Given the description of an element on the screen output the (x, y) to click on. 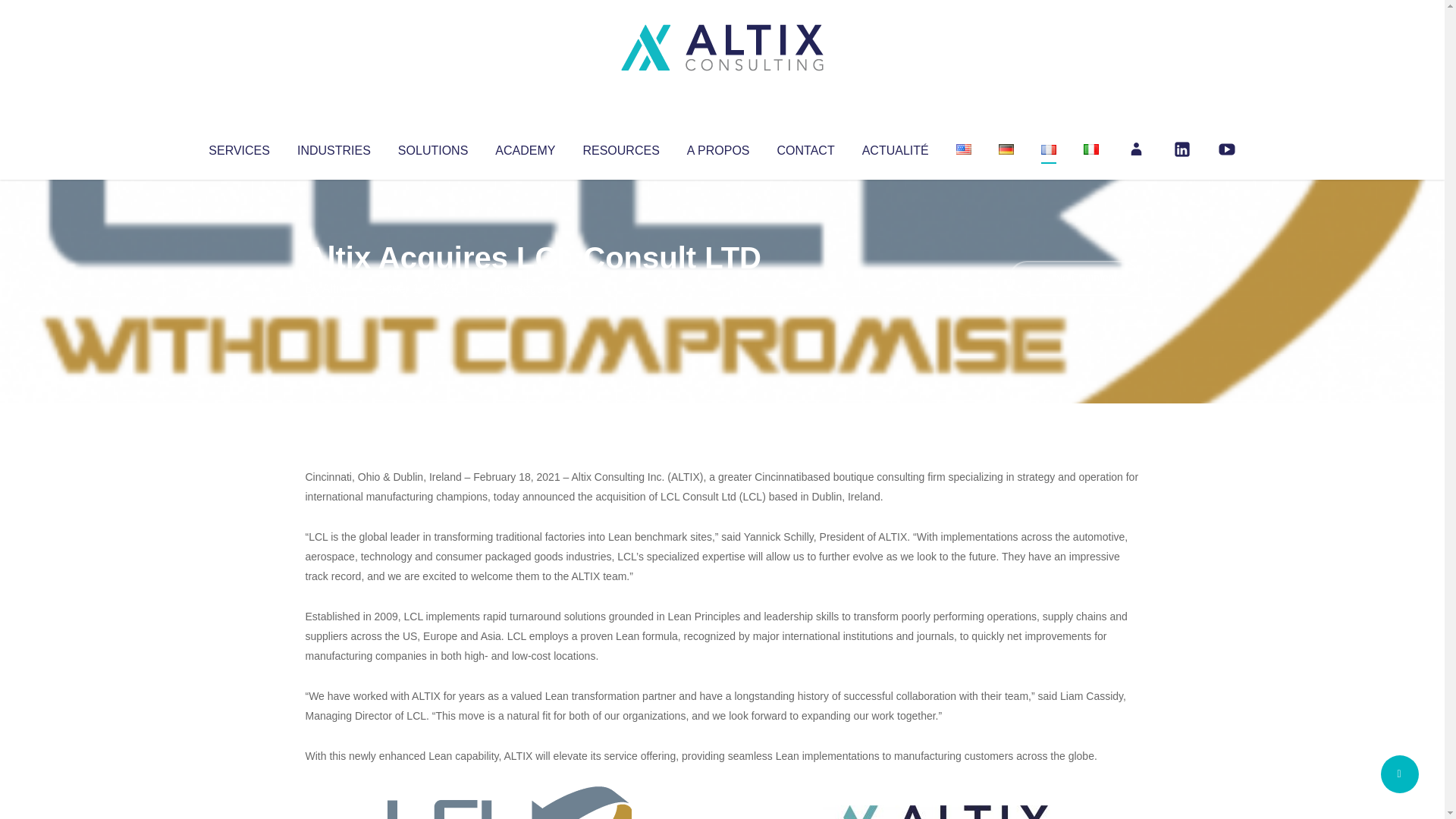
INDUSTRIES (334, 146)
ACADEMY (524, 146)
A PROPOS (718, 146)
Articles par Altix (333, 287)
No Comments (1073, 278)
Altix (333, 287)
SOLUTIONS (432, 146)
Uncategorized (530, 287)
RESOURCES (620, 146)
SERVICES (238, 146)
